Given the description of an element on the screen output the (x, y) to click on. 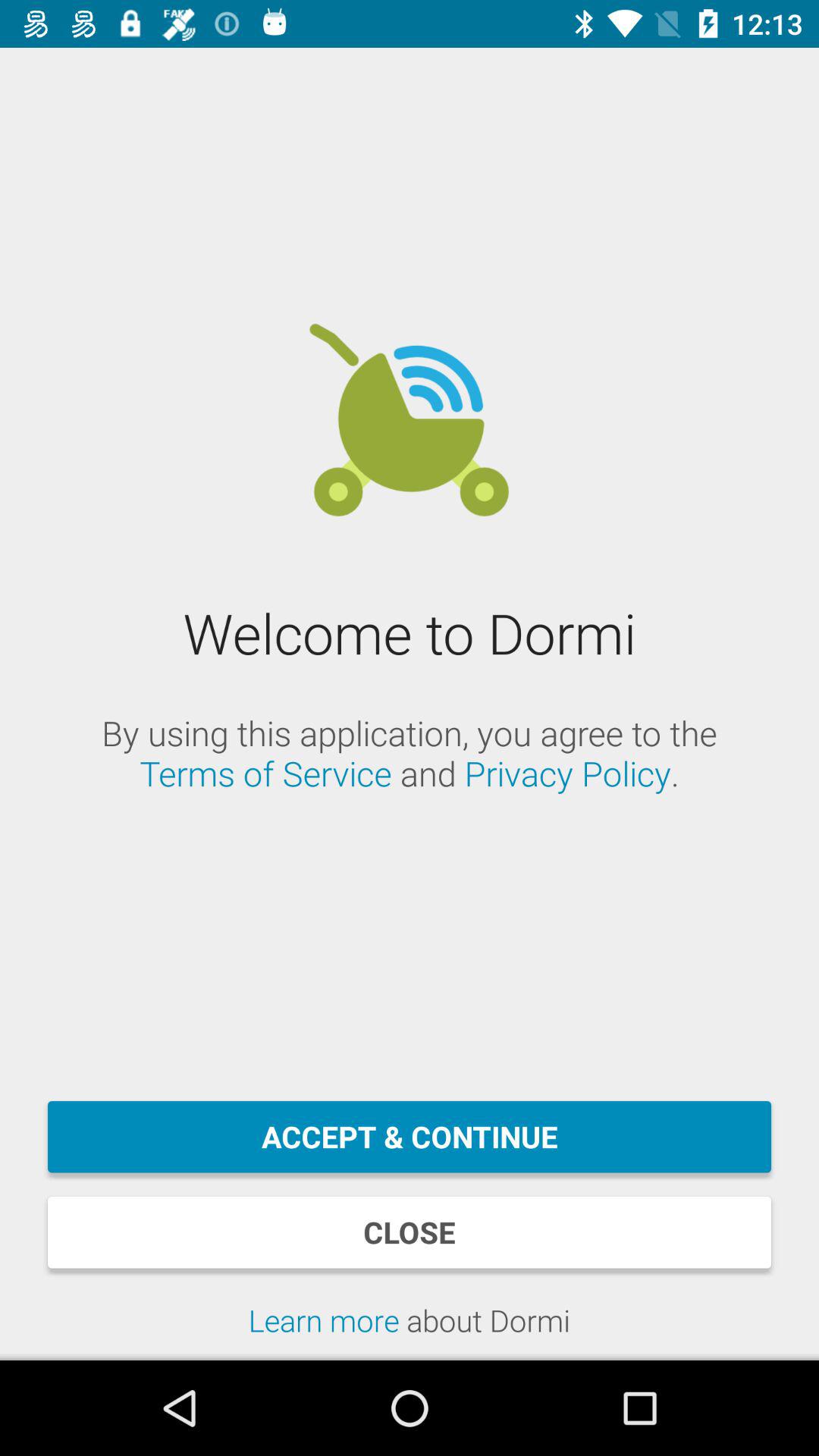
jump to the accept & continue (409, 1136)
